Given the description of an element on the screen output the (x, y) to click on. 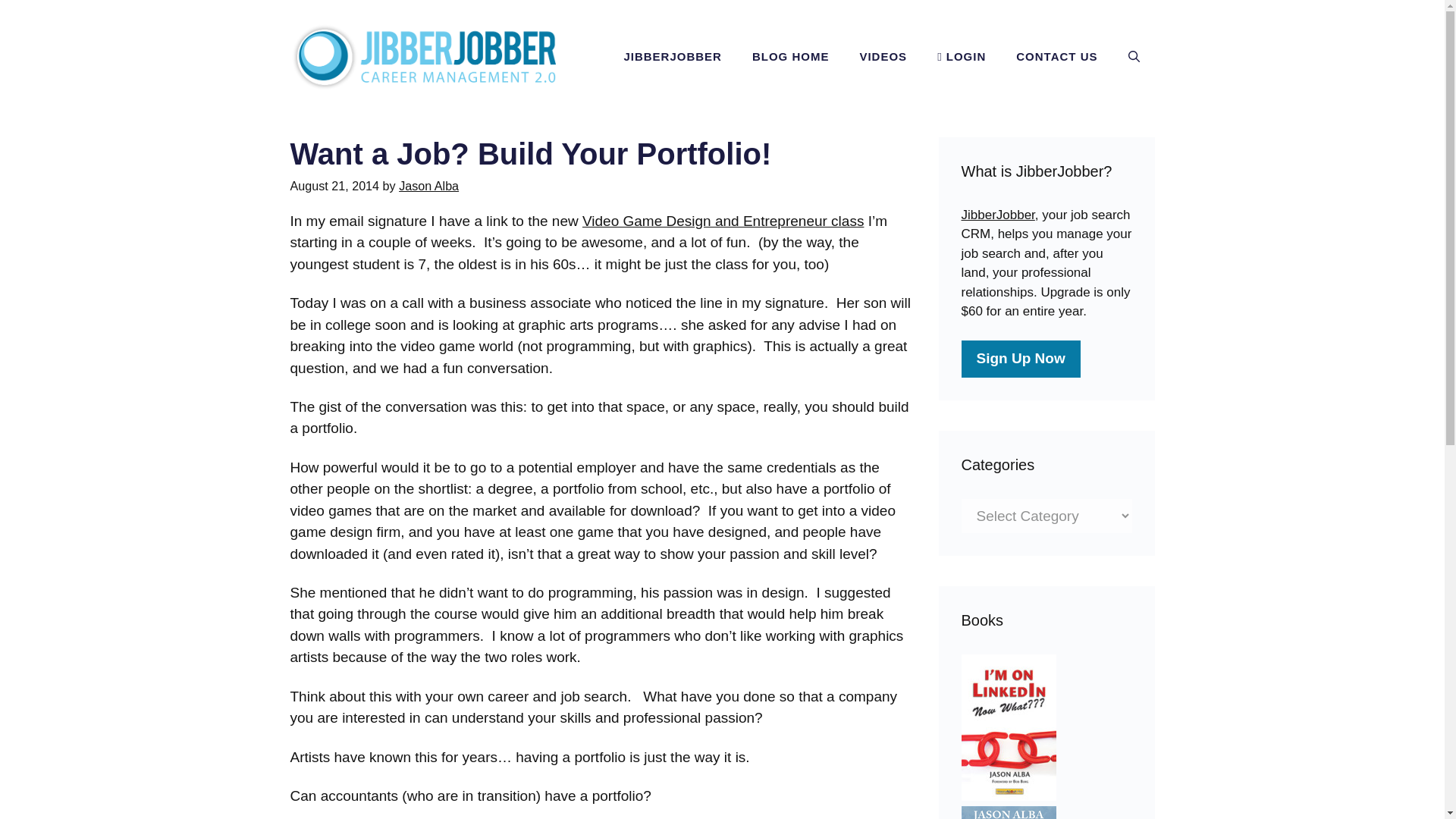
JibberJobber (997, 214)
View all posts by Jason Alba (428, 185)
Video Game Design and Entrepreneur class (722, 220)
Sign Up Now (1020, 358)
VIDEOS (882, 56)
JibberJobber Blog (421, 55)
Jason Alba (428, 185)
CONTACT US (1056, 56)
JibberJobber Blog (421, 56)
BLOG HOME (790, 56)
JIBBERJOBBER (672, 56)
